Given the description of an element on the screen output the (x, y) to click on. 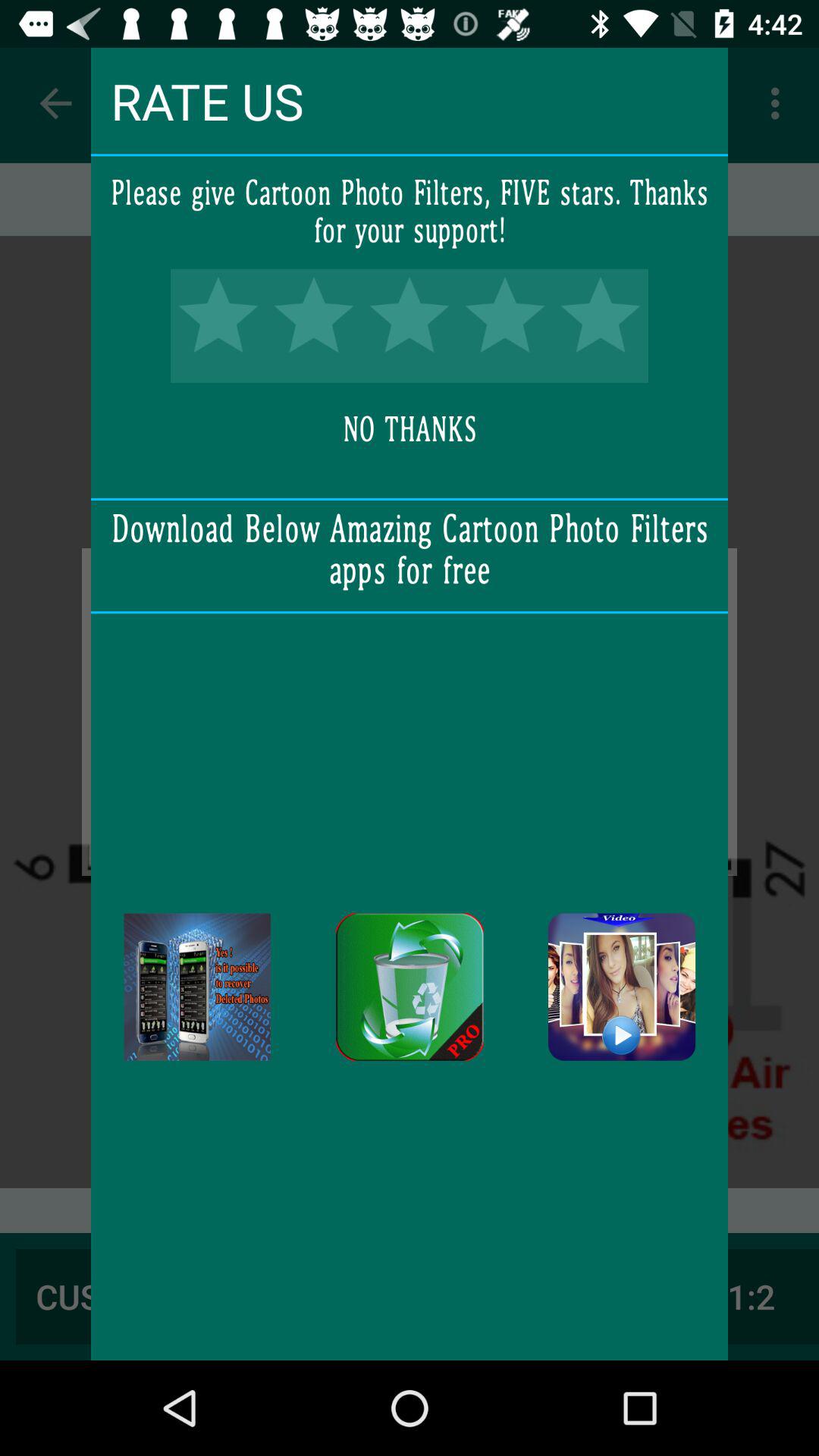
turn off the icon at the bottom (409, 986)
